Given the description of an element on the screen output the (x, y) to click on. 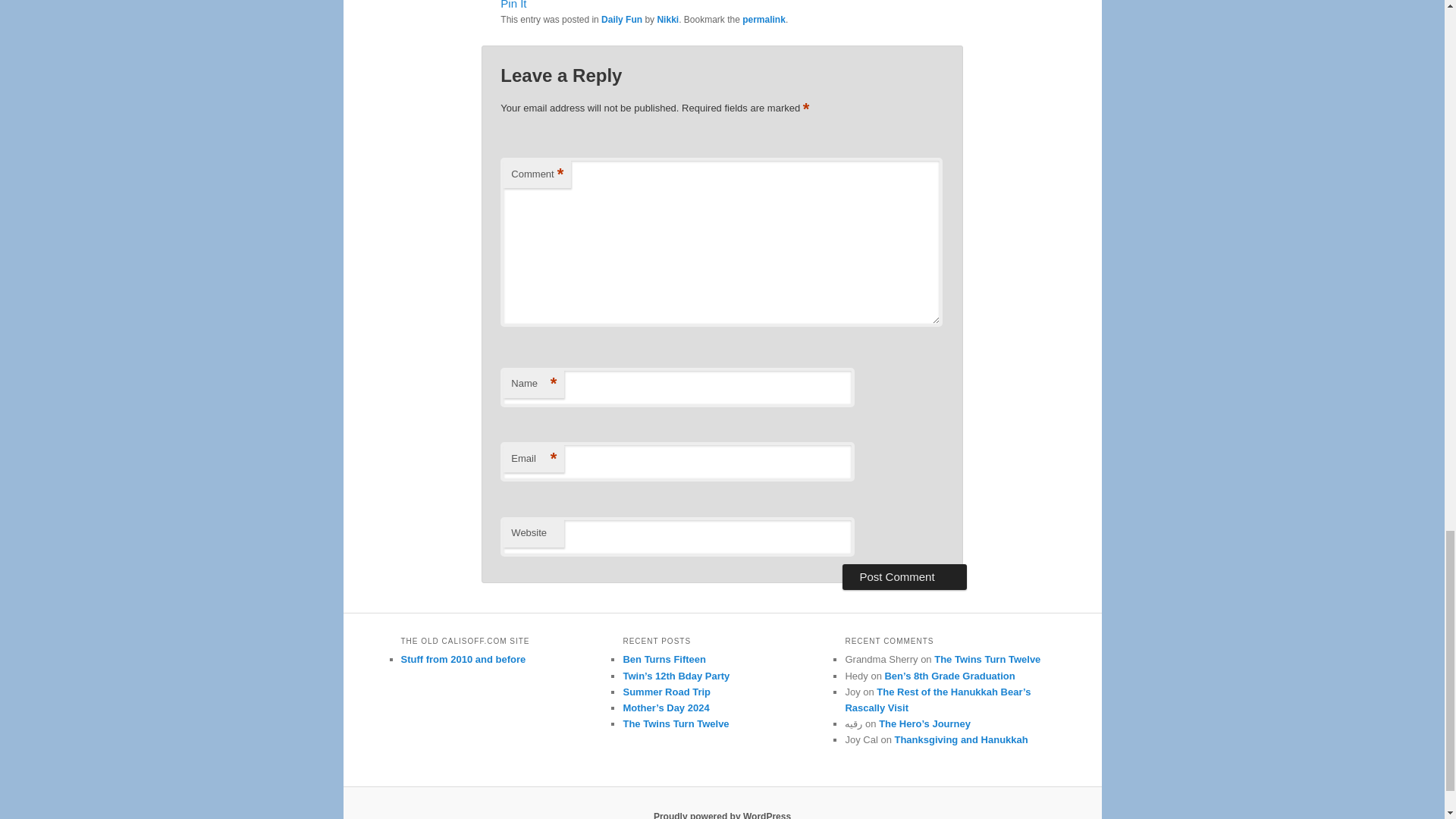
Semantic Personal Publishing Platform (721, 815)
Permalink to Passover 2016 (764, 19)
Post Comment (904, 576)
